Given the description of an element on the screen output the (x, y) to click on. 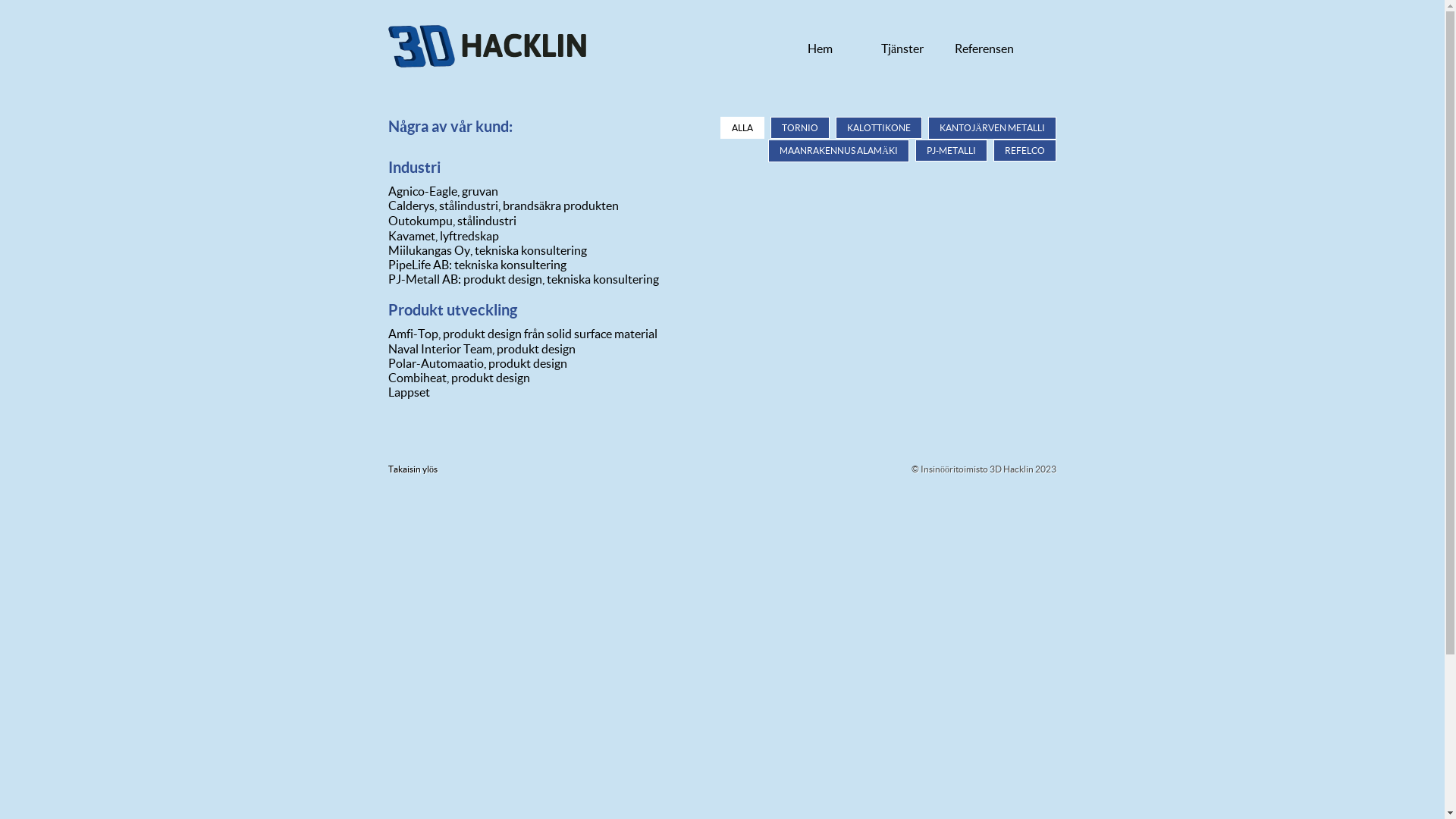
KALOTTIKONE Element type: text (878, 127)
Referensen Element type: text (983, 47)
REFELCO Element type: text (1024, 150)
ALLA Element type: text (742, 127)
Hem Element type: text (819, 47)
TORNIO Element type: text (799, 127)
PJ-METALLI Element type: text (951, 150)
